Given the description of an element on the screen output the (x, y) to click on. 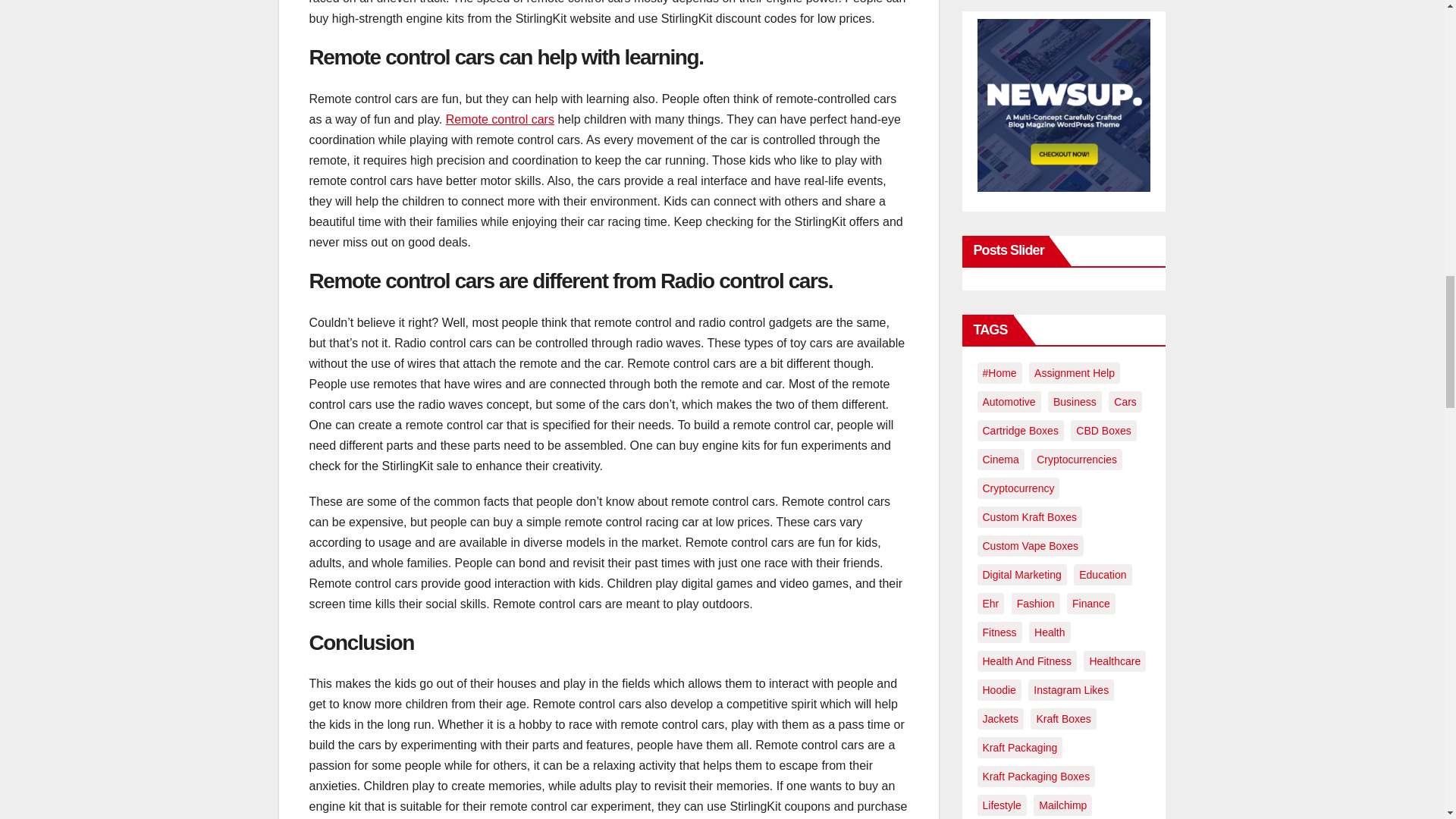
Remote control cars (499, 119)
